Given the description of an element on the screen output the (x, y) to click on. 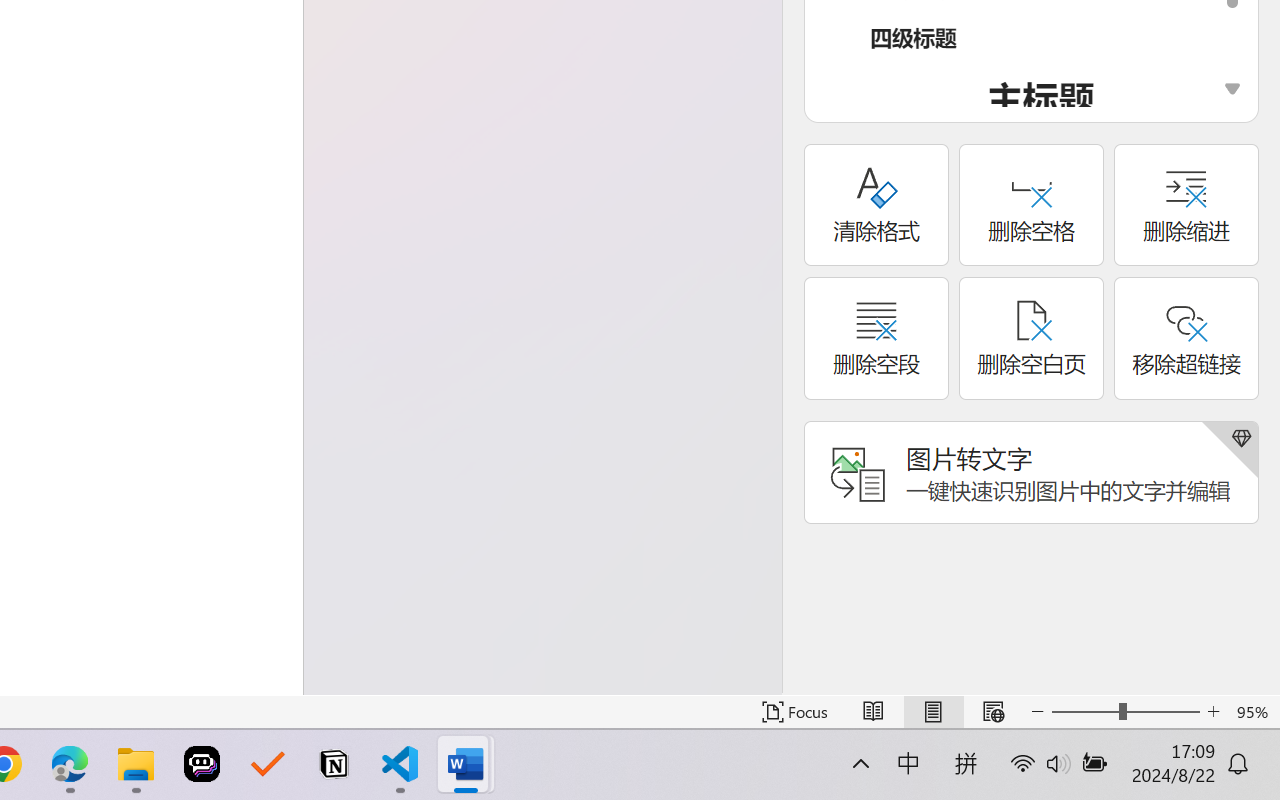
Zoom 95% (1253, 712)
